Given the description of an element on the screen output the (x, y) to click on. 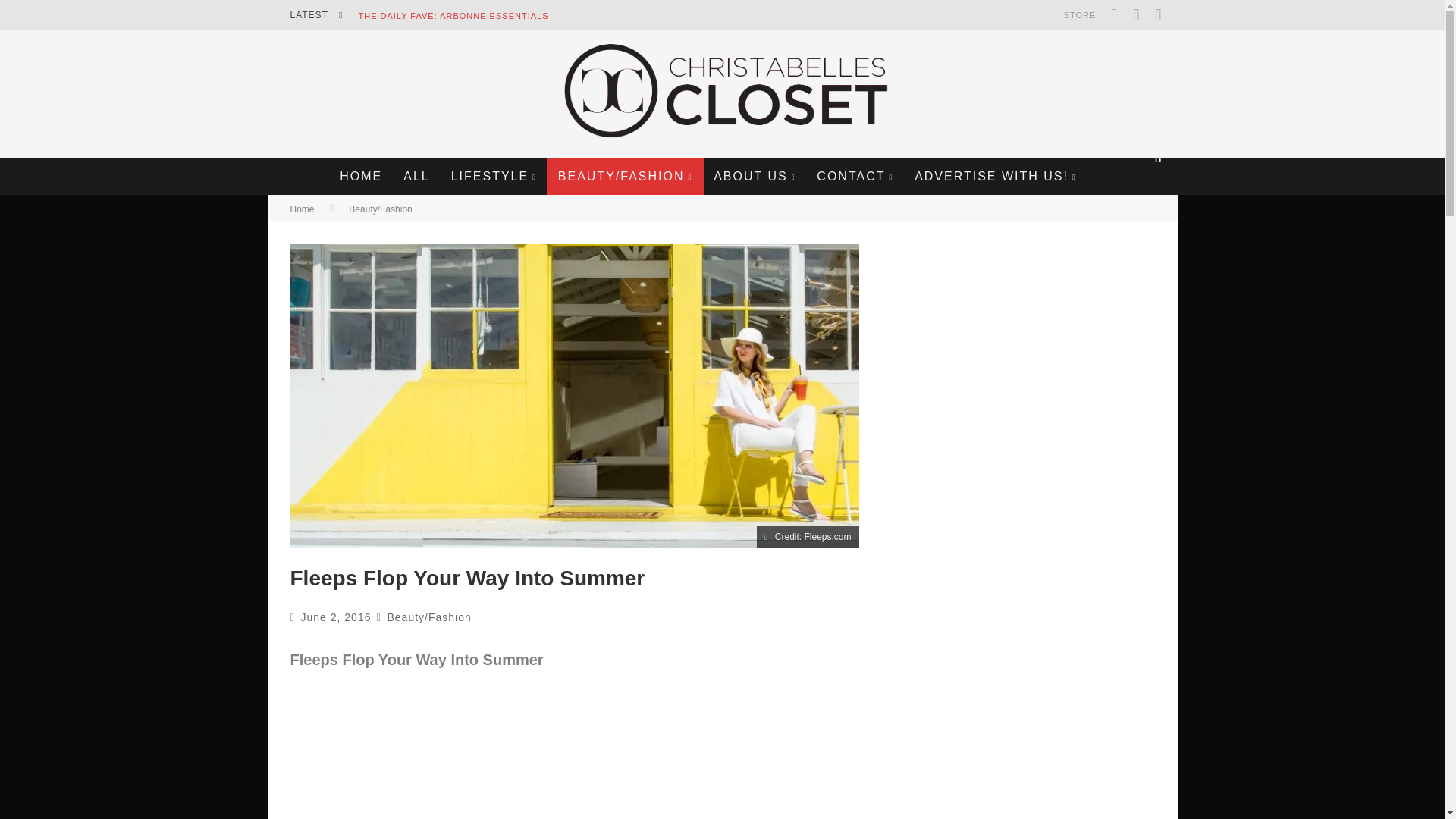
THE DAILY FAVE: ARBONNE ESSENTIALS (453, 15)
The Daily Fave: Arbonne Essentials (453, 15)
